Given the description of an element on the screen output the (x, y) to click on. 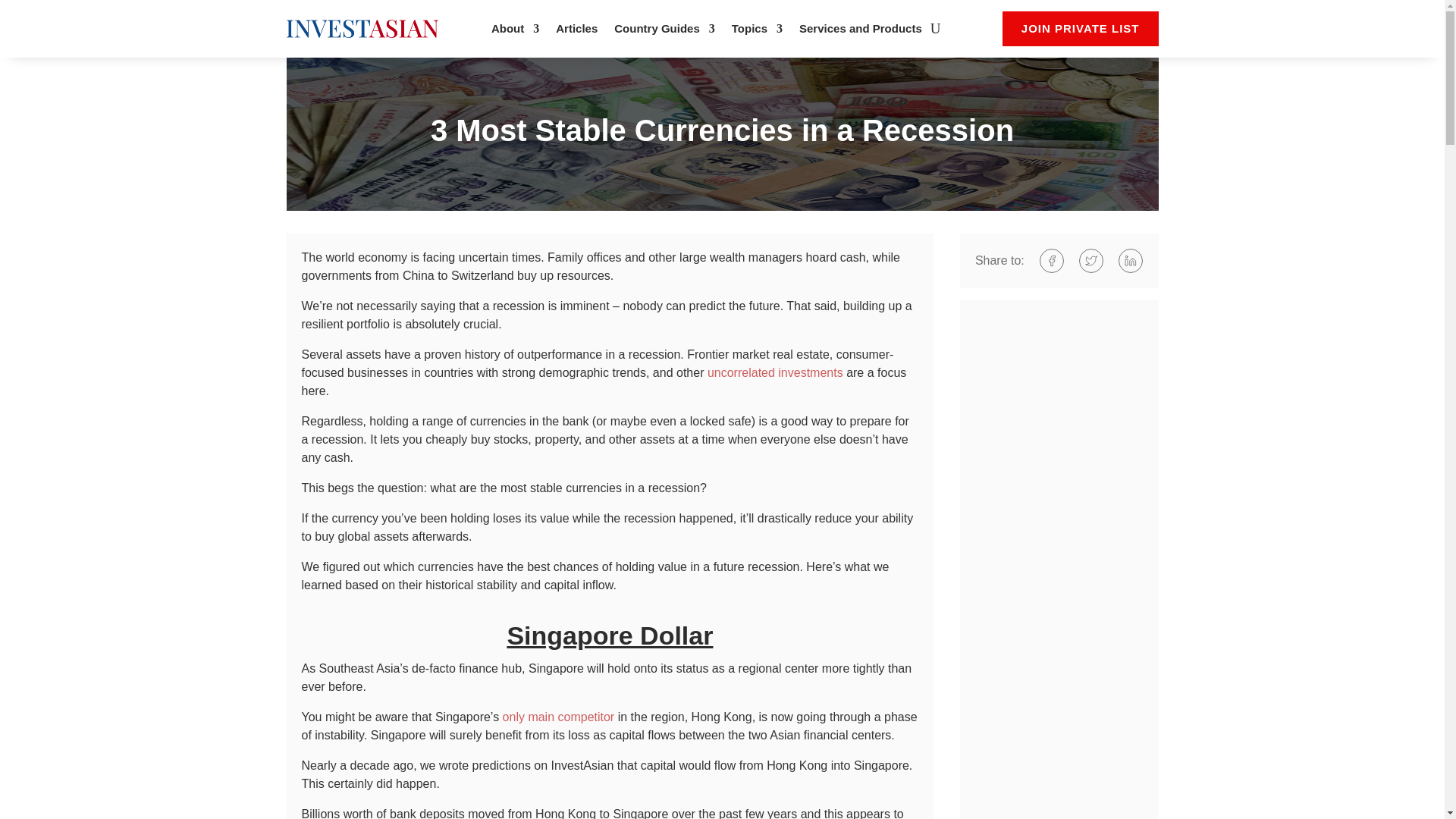
Articles (576, 31)
Services and Products (860, 31)
JOIN PRIVATE LIST (1080, 28)
3 Most Stable Currencies in a Recession (722, 133)
only main competitor (558, 716)
About (515, 31)
Topics (757, 31)
uncorrelated investments (775, 371)
LogoIA (362, 28)
Country Guides (664, 31)
